Given the description of an element on the screen output the (x, y) to click on. 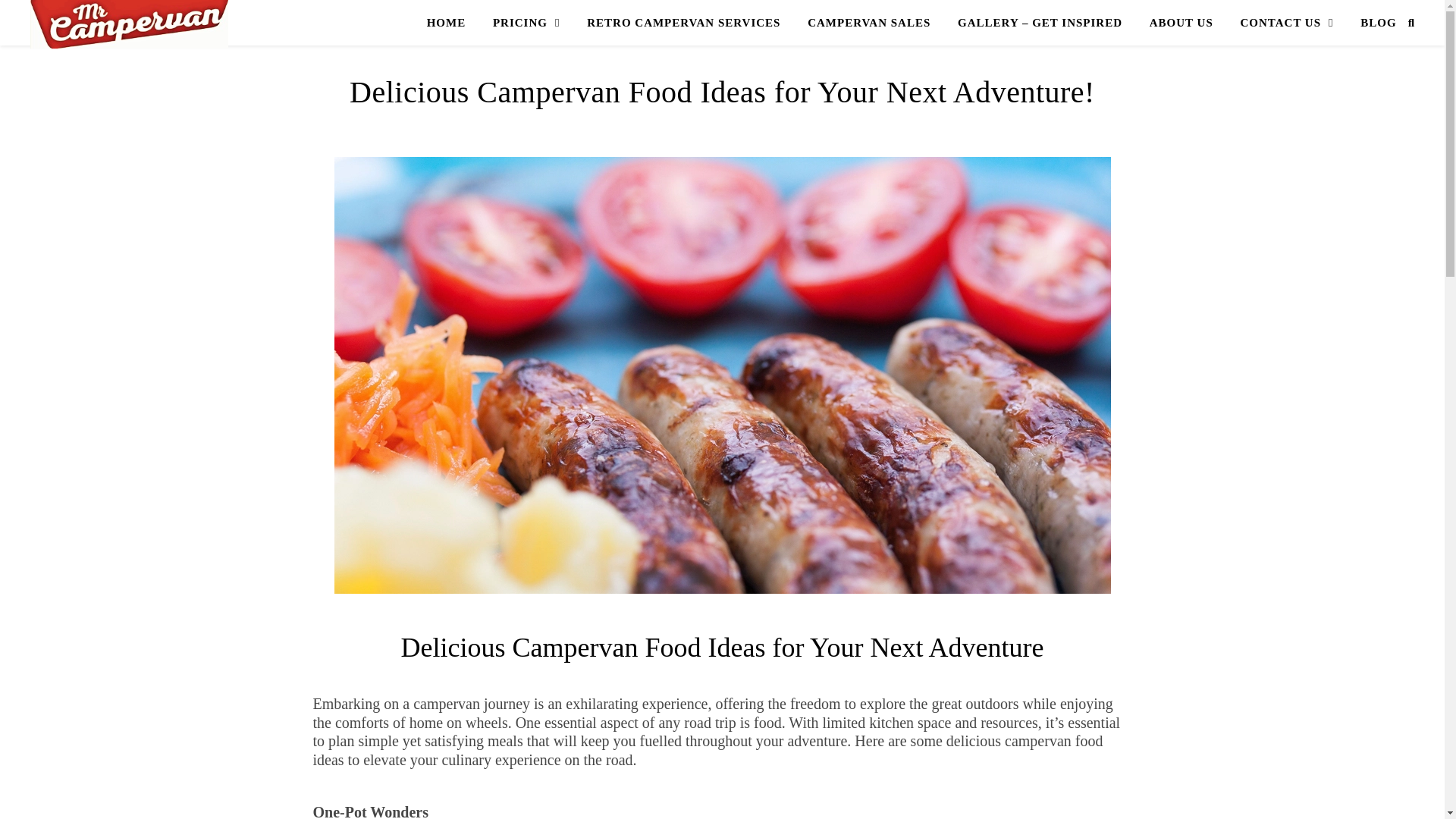
HOME (452, 22)
Contact Us (1286, 22)
PRICING (526, 22)
ABOUT US (1181, 22)
BLOGS by Mr Campervan (1372, 22)
CONTACT US (1286, 22)
CAMPERVAN SALES (868, 22)
BLOG (1372, 22)
Mr Campervan (129, 24)
RETRO CAMPERVAN SERVICES (683, 22)
